Given the description of an element on the screen output the (x, y) to click on. 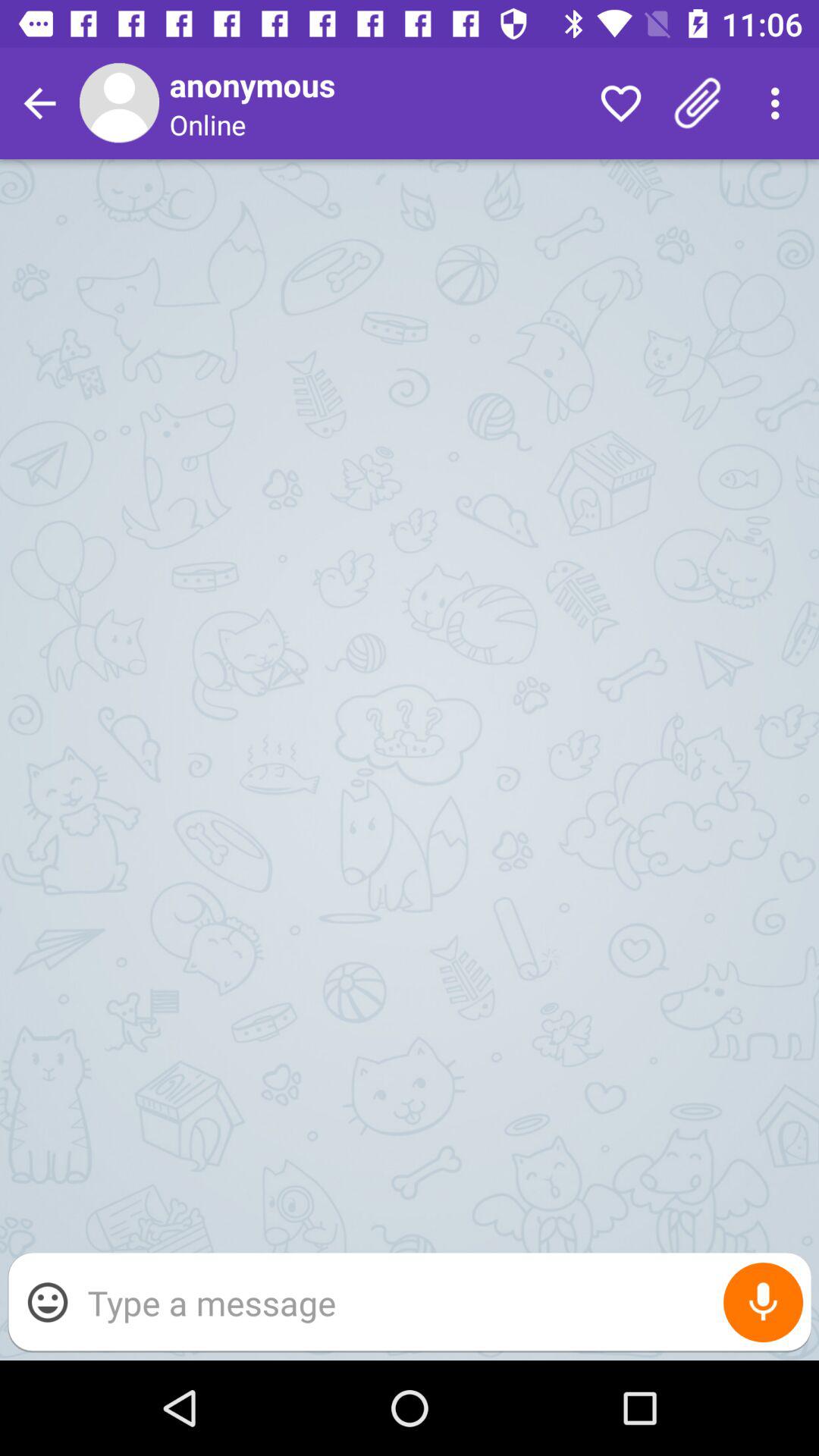
launch icon to the right of the anonymous (620, 103)
